Given the description of an element on the screen output the (x, y) to click on. 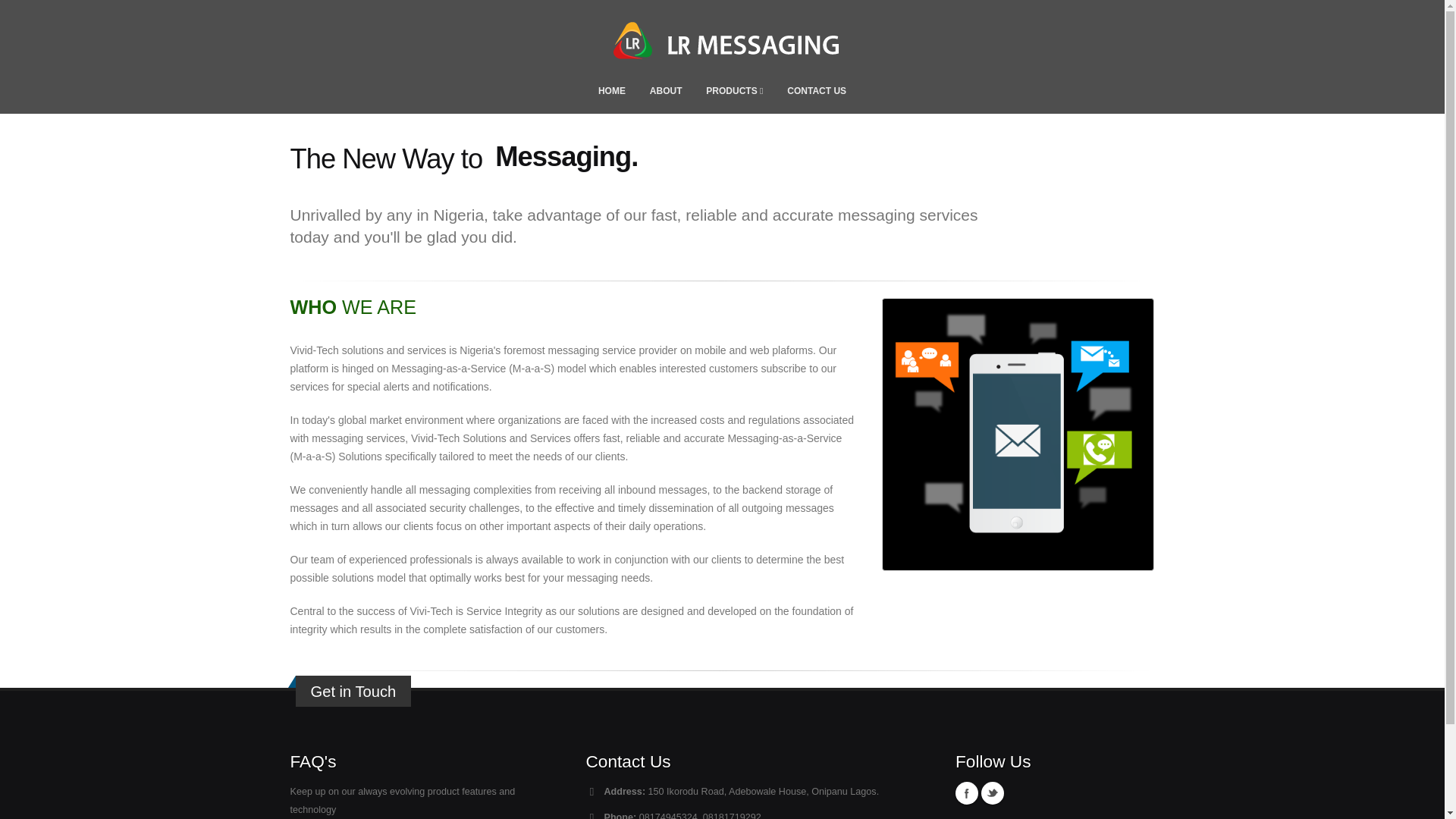
PRODUCTS (734, 91)
ABOUT (666, 91)
CONTACT US (816, 91)
HOME (611, 91)
